Given the description of an element on the screen output the (x, y) to click on. 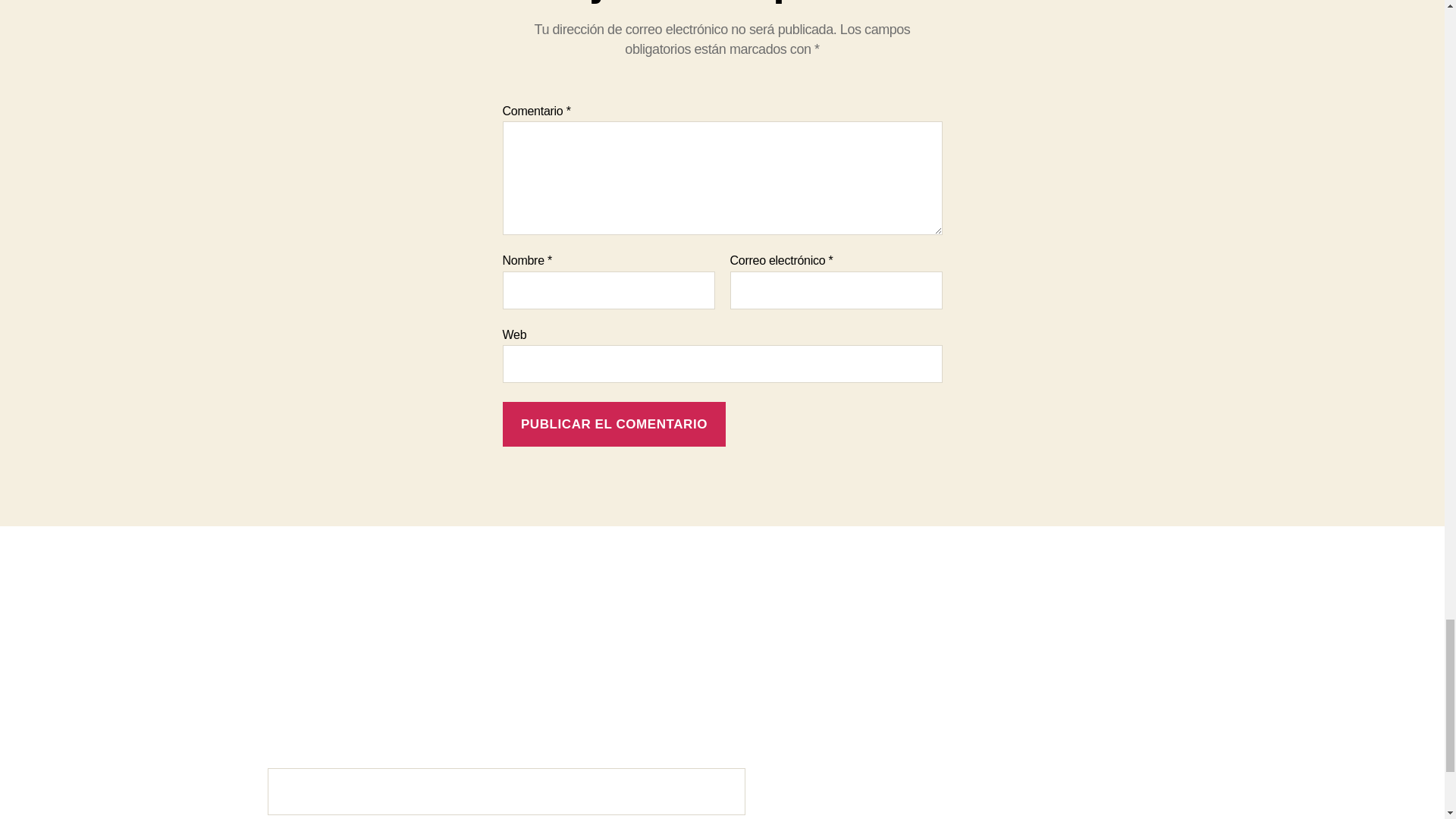
Publicar el comentario (613, 424)
Publicar el comentario (613, 424)
